Given the description of an element on the screen output the (x, y) to click on. 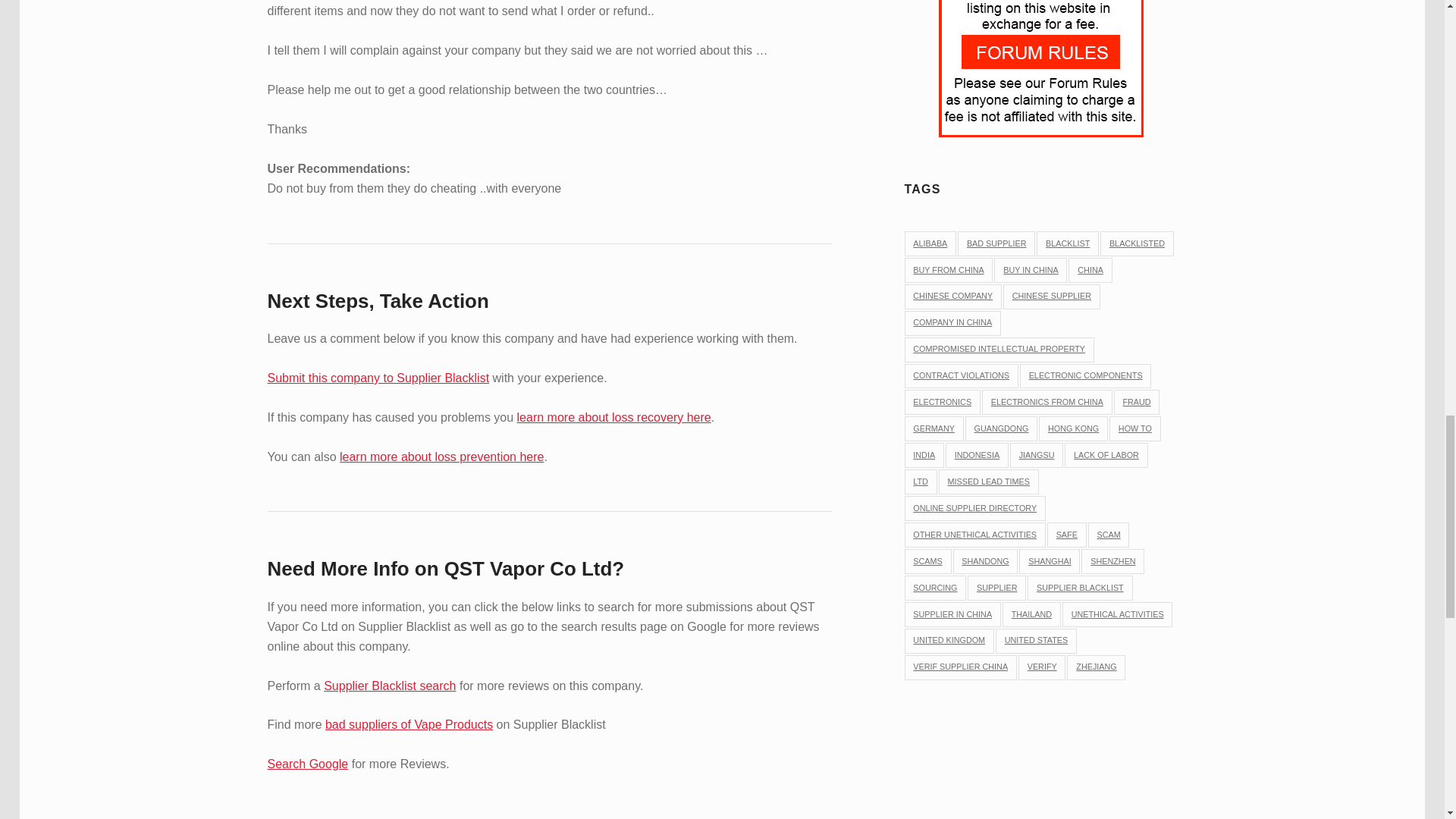
learn more about loss prevention here (441, 456)
Search Google (306, 763)
bad suppliers of Vape Products (408, 724)
Submit this company to Supplier Blacklist (377, 377)
learn more about loss recovery here (613, 417)
Supplier Blacklist search (389, 685)
